Given the description of an element on the screen output the (x, y) to click on. 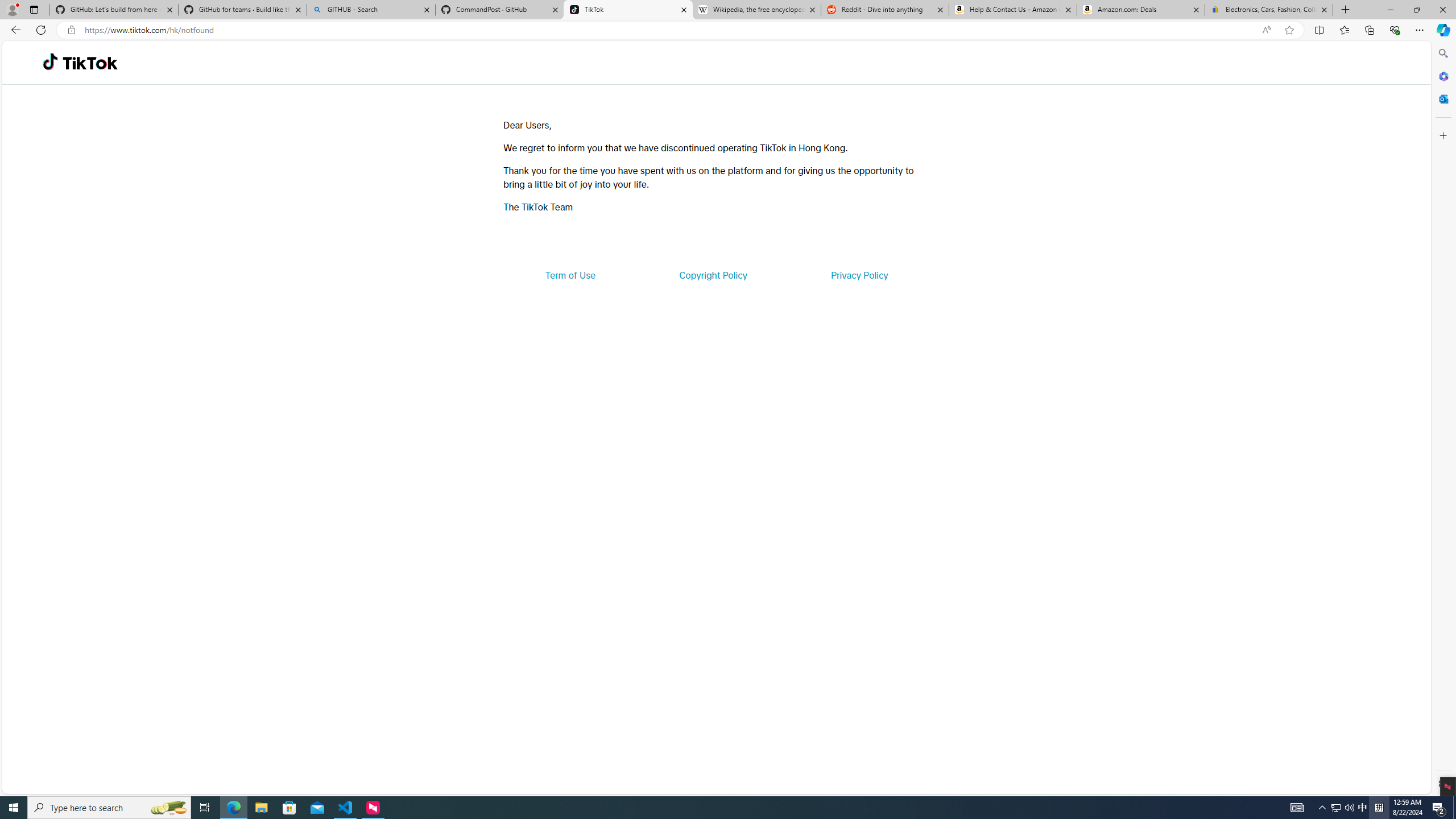
Privacy Policy (858, 274)
Amazon.com: Deals (1140, 9)
GITHUB - Search (370, 9)
TikTok (89, 62)
